Given the description of an element on the screen output the (x, y) to click on. 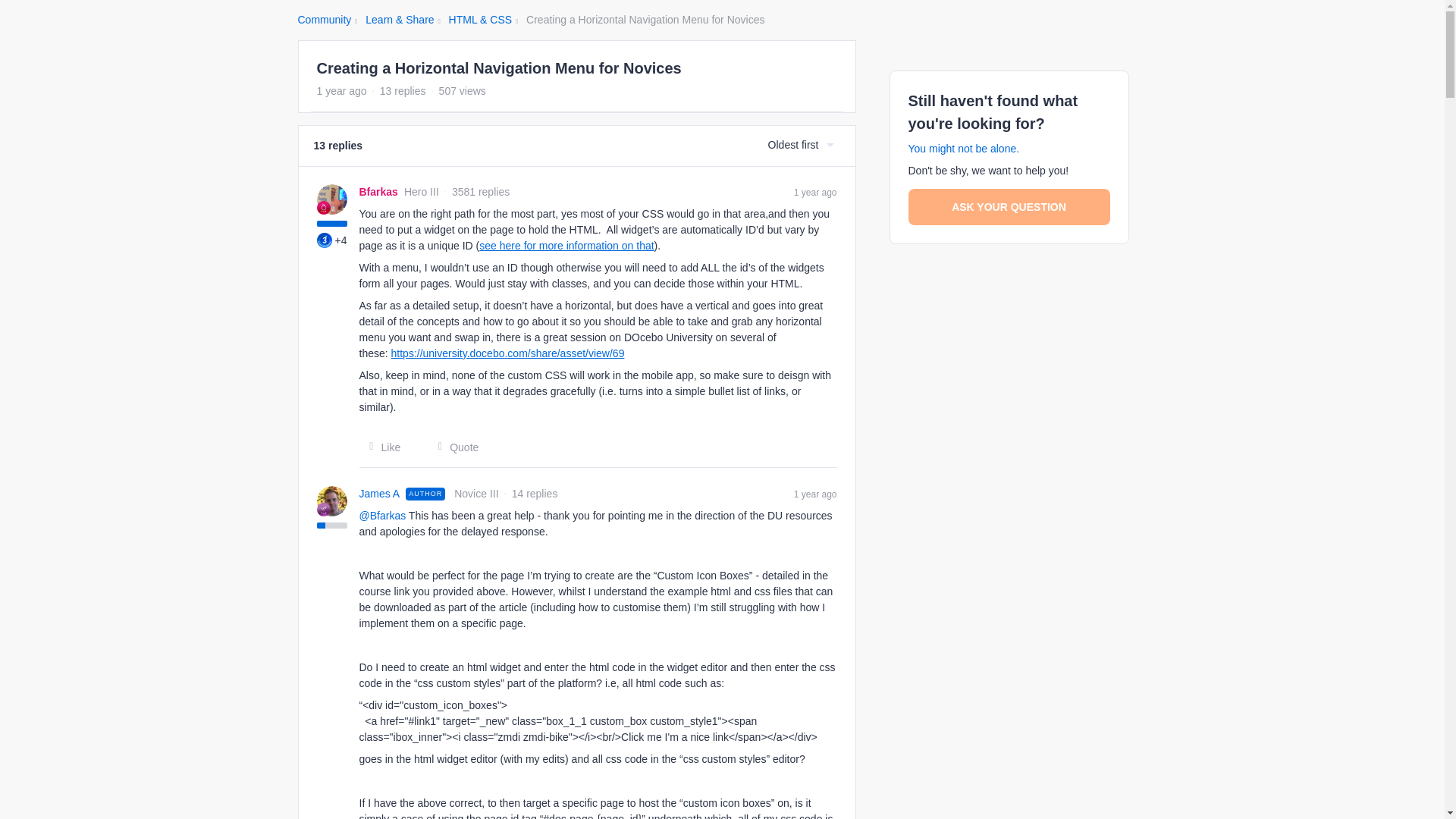
James A (379, 494)
1 year ago (815, 191)
Novice III (323, 509)
Bfarkas (378, 191)
1 year ago (815, 493)
Community 3rd Birthday (324, 239)
Bfarkas (378, 191)
Hero III (323, 206)
see here for more information on that (566, 245)
Like (380, 447)
